Given the description of an element on the screen output the (x, y) to click on. 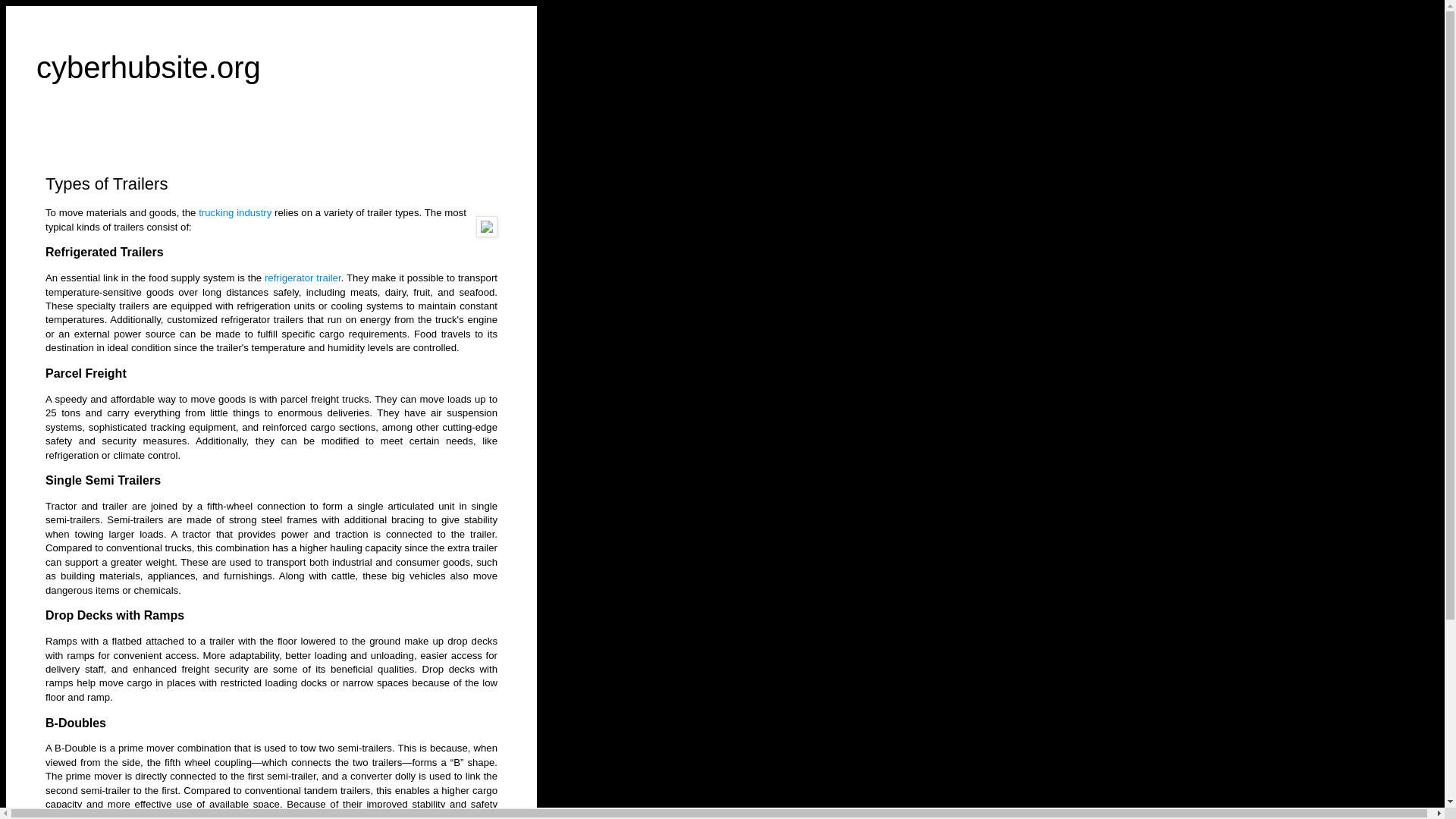
trucking industry (234, 212)
cyberhubsite.org (148, 67)
refrigerator trailer (302, 277)
